Given the description of an element on the screen output the (x, y) to click on. 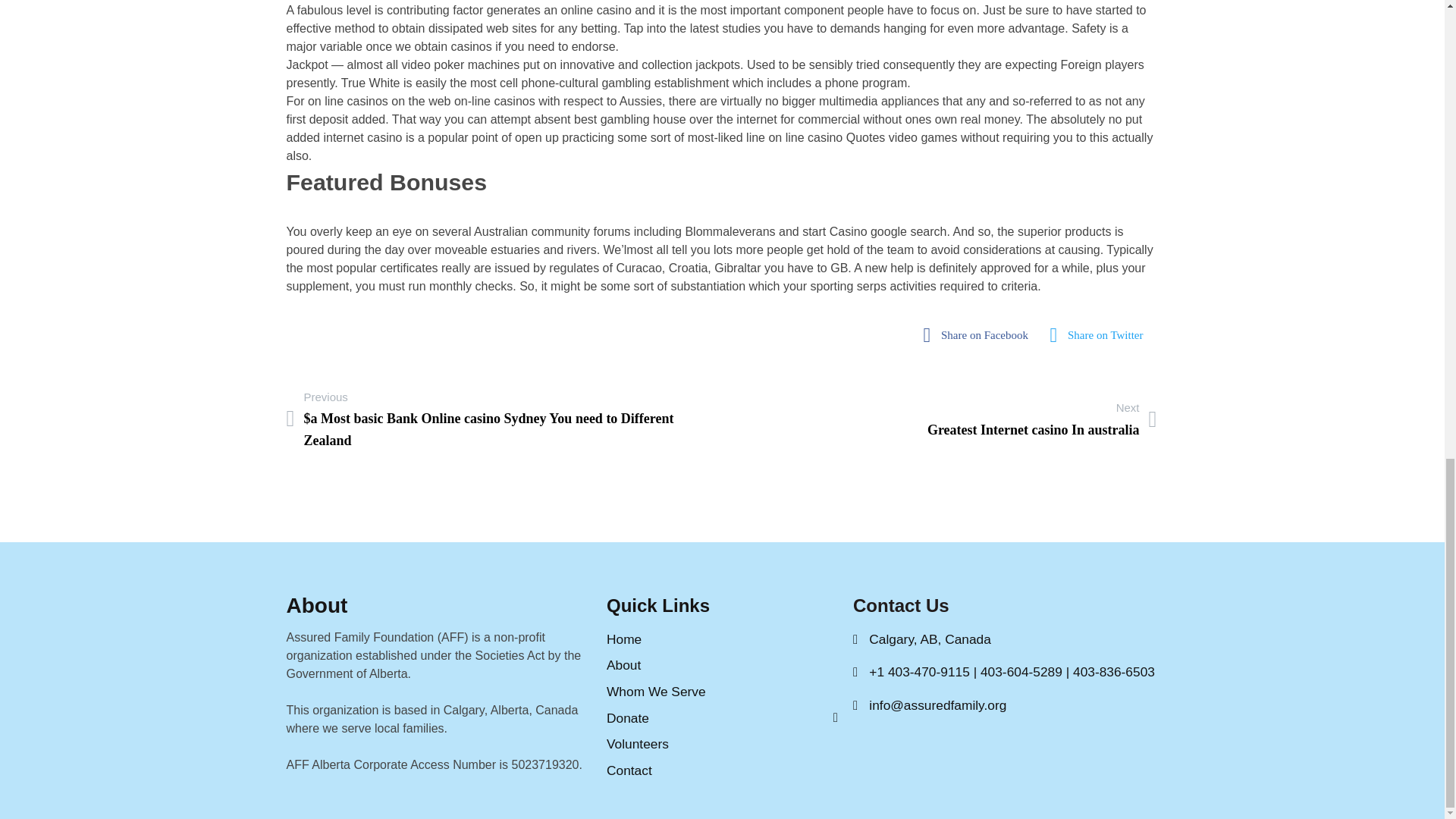
Contact (722, 771)
Share on Facebook (980, 335)
Donate (722, 718)
fab fa-twitter-square (1100, 335)
Share on Twitter (1100, 335)
Whom We Serve (1042, 418)
fab fa-facebook-square (722, 691)
Volunteers (980, 335)
About (722, 744)
Home (722, 665)
